Given the description of an element on the screen output the (x, y) to click on. 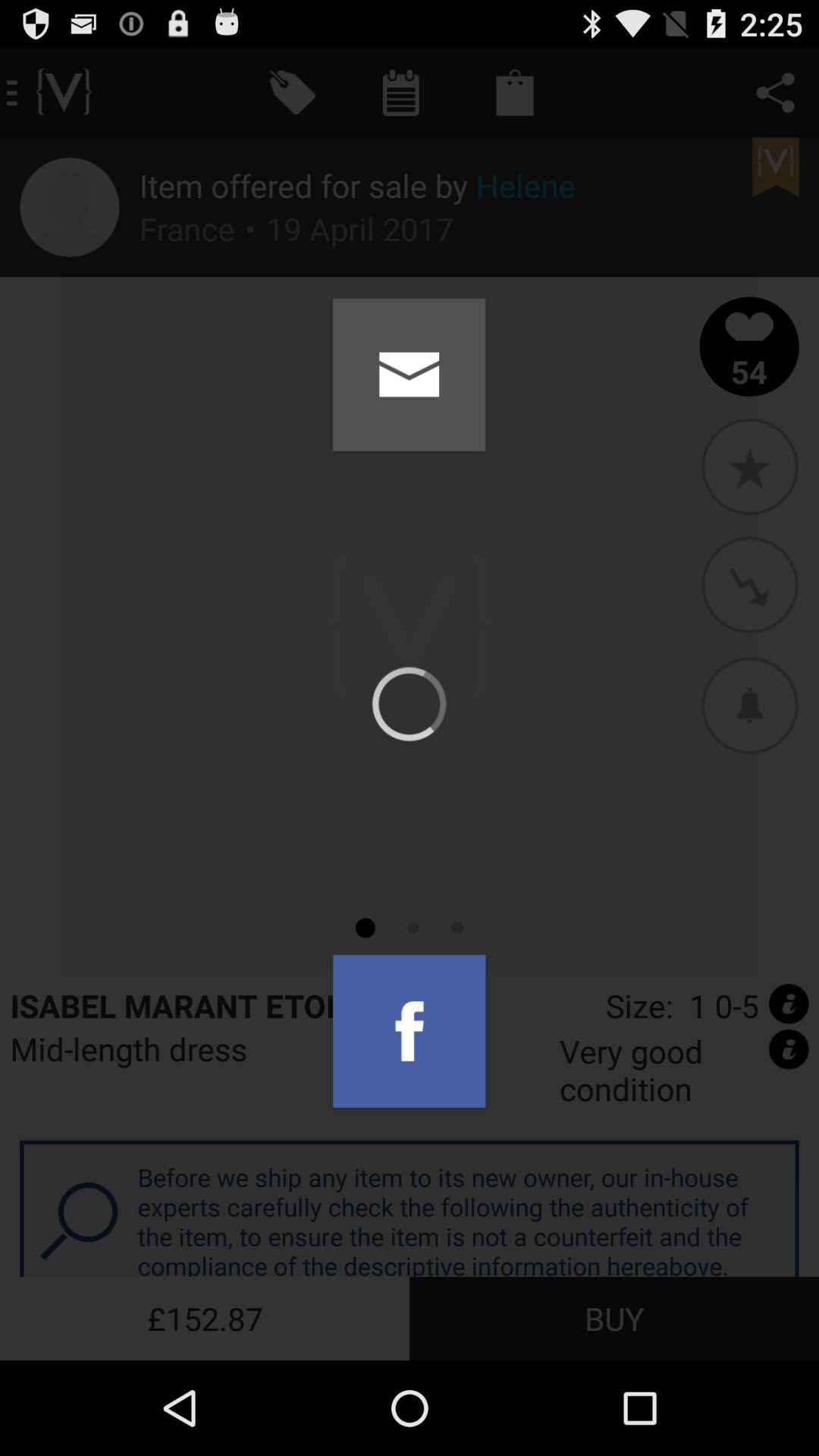
launch icon above the france (357, 185)
